Given the description of an element on the screen output the (x, y) to click on. 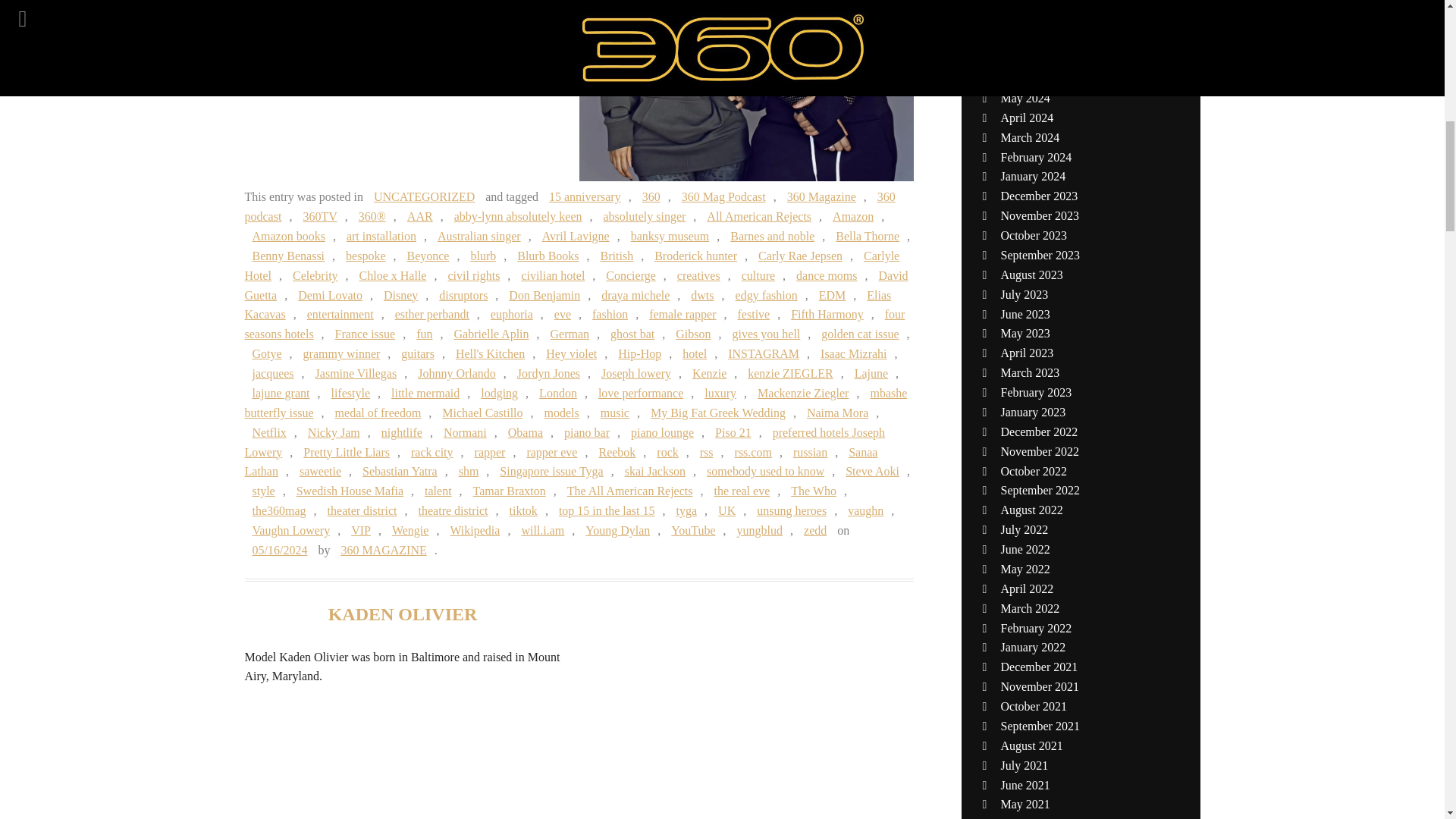
View all posts by 360 MAGAZINE (383, 549)
4:57 am (279, 549)
